Given the description of an element on the screen output the (x, y) to click on. 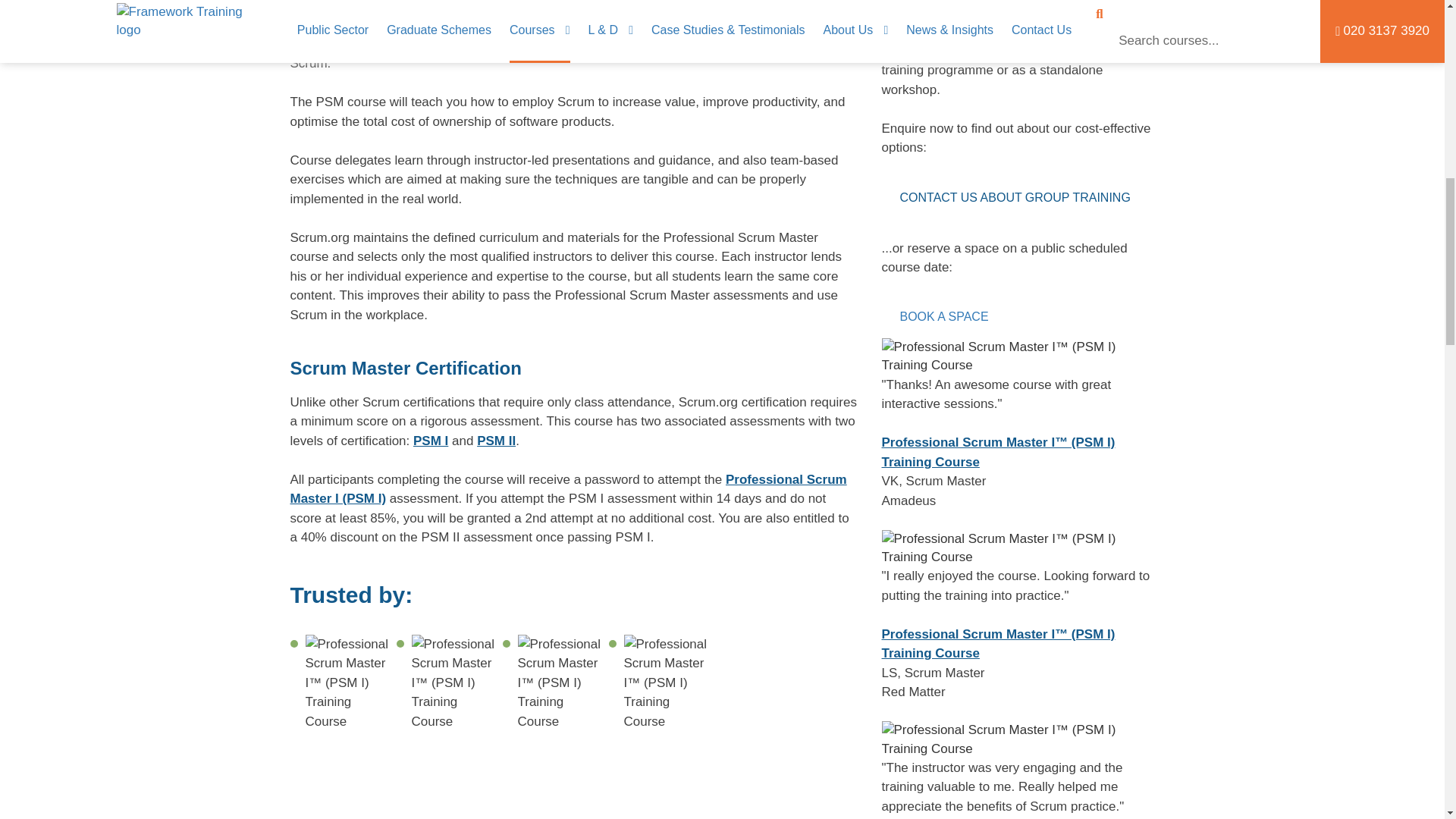
CONTACT US ABOUT GROUP TRAINING (1014, 197)
